Given the description of an element on the screen output the (x, y) to click on. 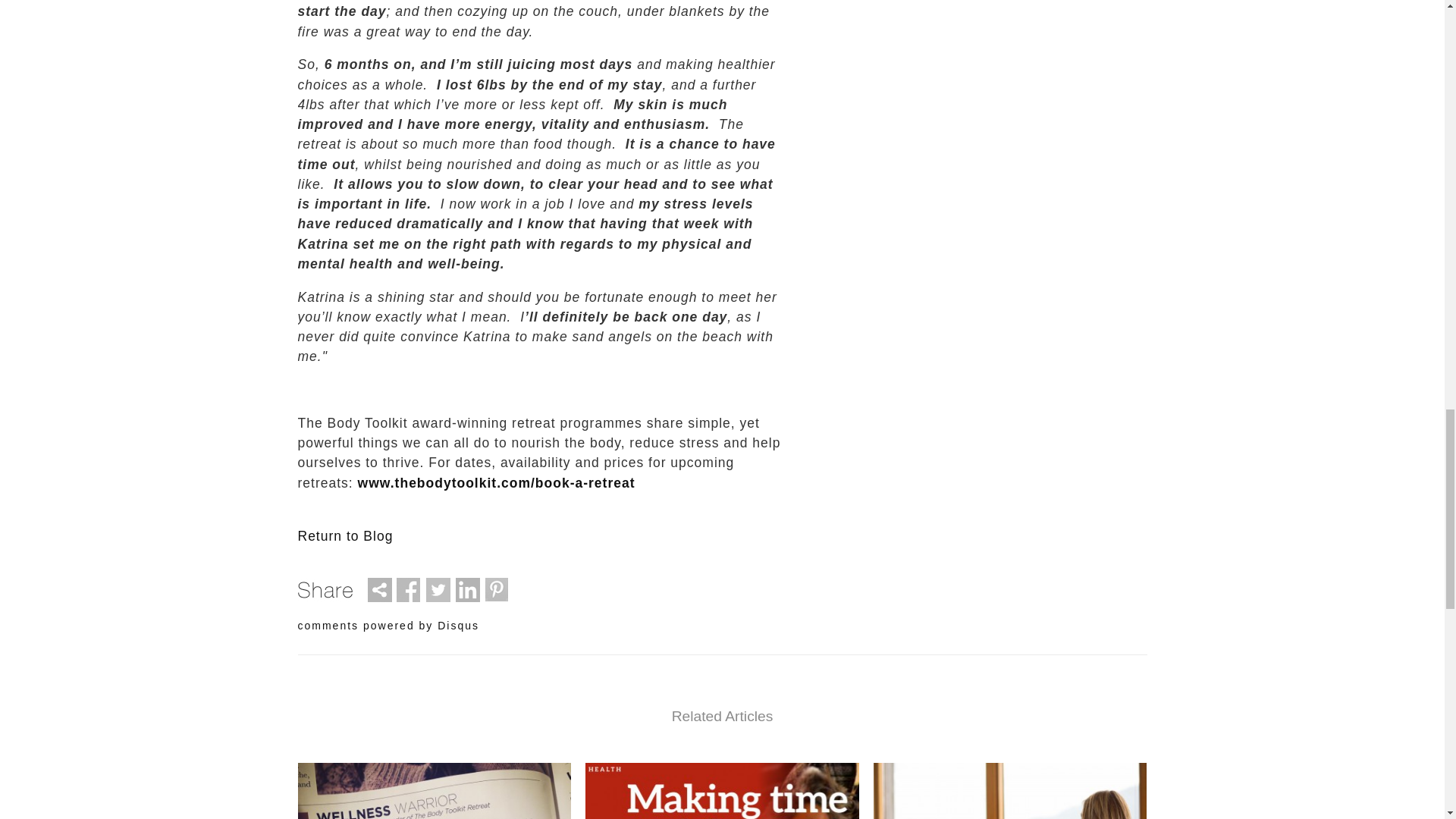
comments powered by Disqus (388, 625)
Return to Blog (345, 535)
